Given the description of an element on the screen output the (x, y) to click on. 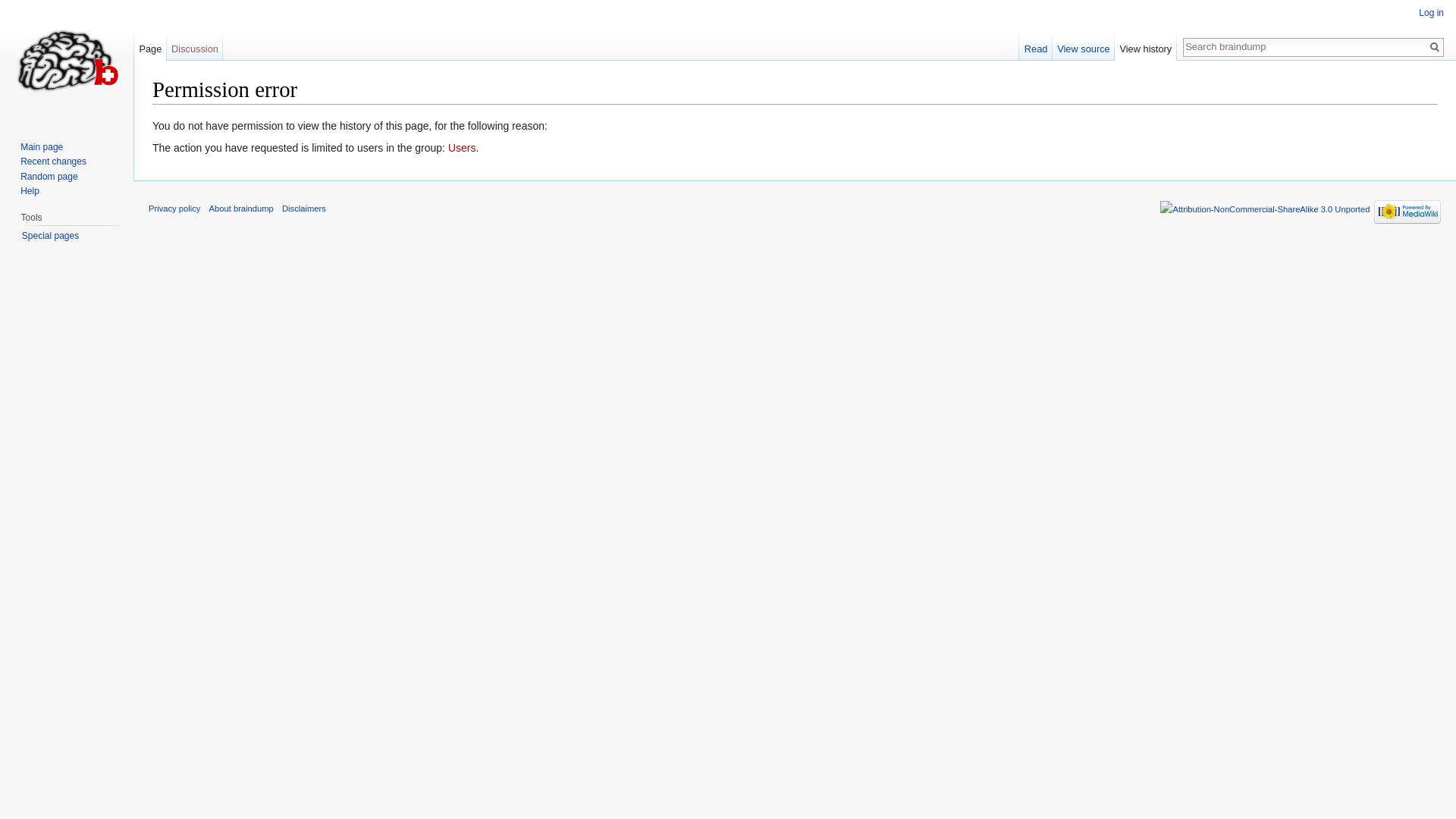
Go Element type: text (1434, 46)
Visit the main page Element type: hover (66, 60)
Page Element type: text (150, 45)
Search braindump [alt-shift-f] Element type: hover (1304, 45)
Recent changes Element type: text (53, 161)
Users Element type: text (462, 147)
View source Element type: text (1083, 45)
Disclaimers Element type: text (304, 208)
Help Element type: text (29, 190)
Random page Element type: text (48, 176)
Discussion Element type: text (194, 45)
Privacy policy Element type: text (174, 208)
View history Element type: text (1145, 45)
Go to a page with this exact name if it exists Element type: hover (1434, 46)
About braindump Element type: text (241, 208)
Read Element type: text (1035, 45)
Special pages Element type: text (49, 235)
Log in Element type: text (1430, 12)
Main page Element type: text (41, 146)
